Given the description of an element on the screen output the (x, y) to click on. 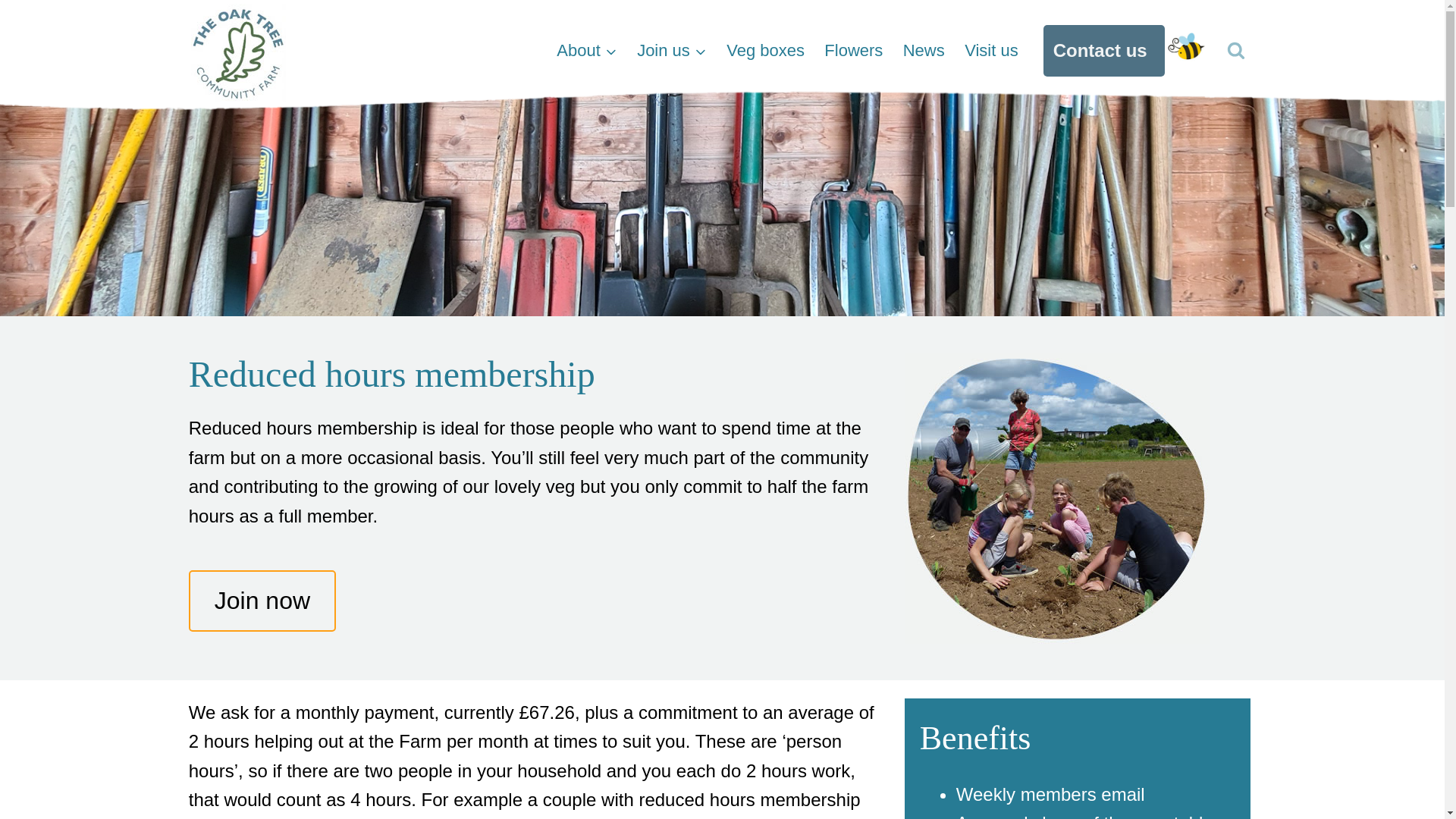
Veg boxes (764, 50)
Flowers (852, 50)
Join now (262, 600)
Contact us (1103, 50)
Join us (671, 50)
Visit us (991, 50)
About (587, 50)
News (924, 50)
